Given the description of an element on the screen output the (x, y) to click on. 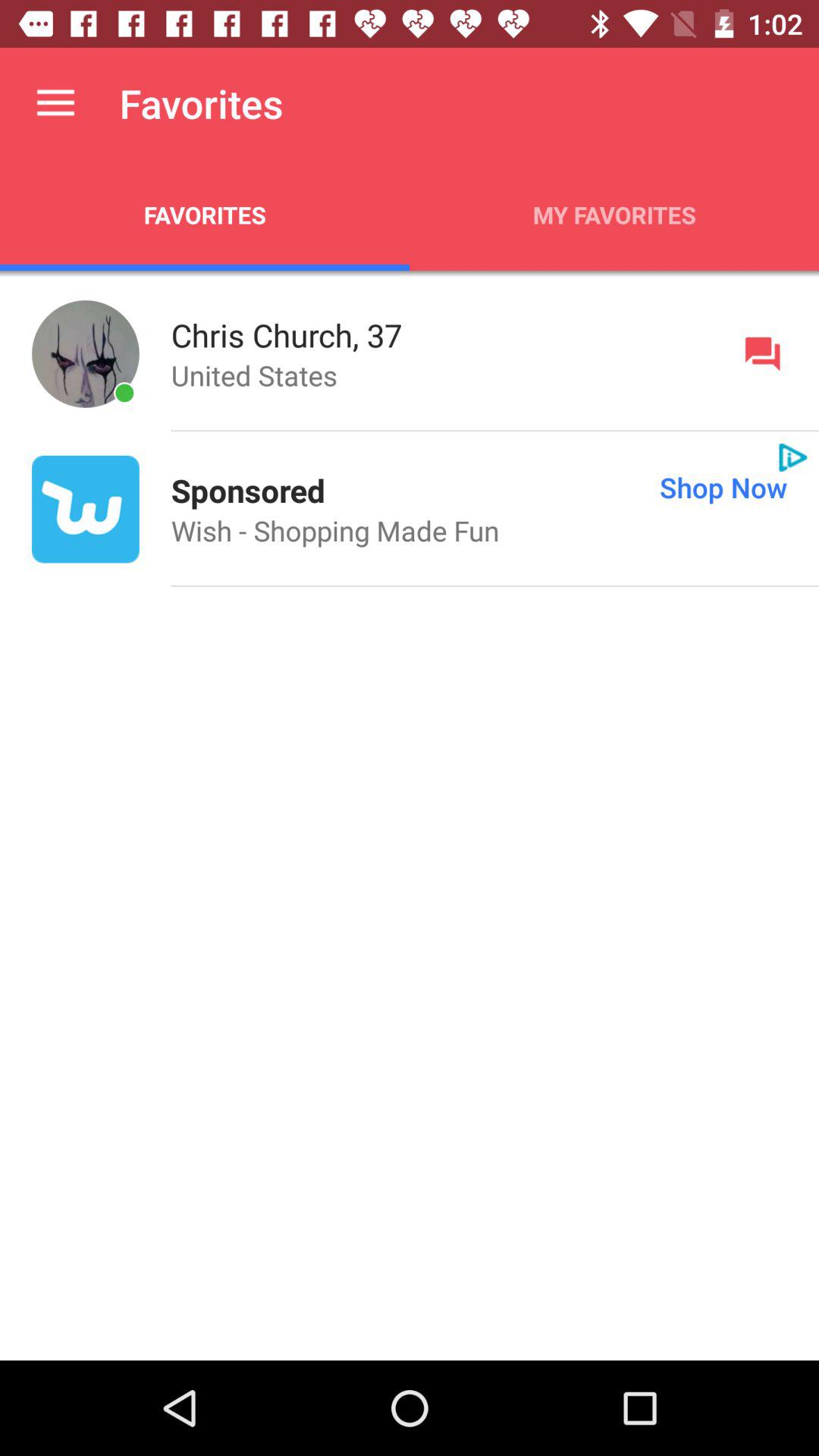
flip to my favorites item (614, 214)
